Given the description of an element on the screen output the (x, y) to click on. 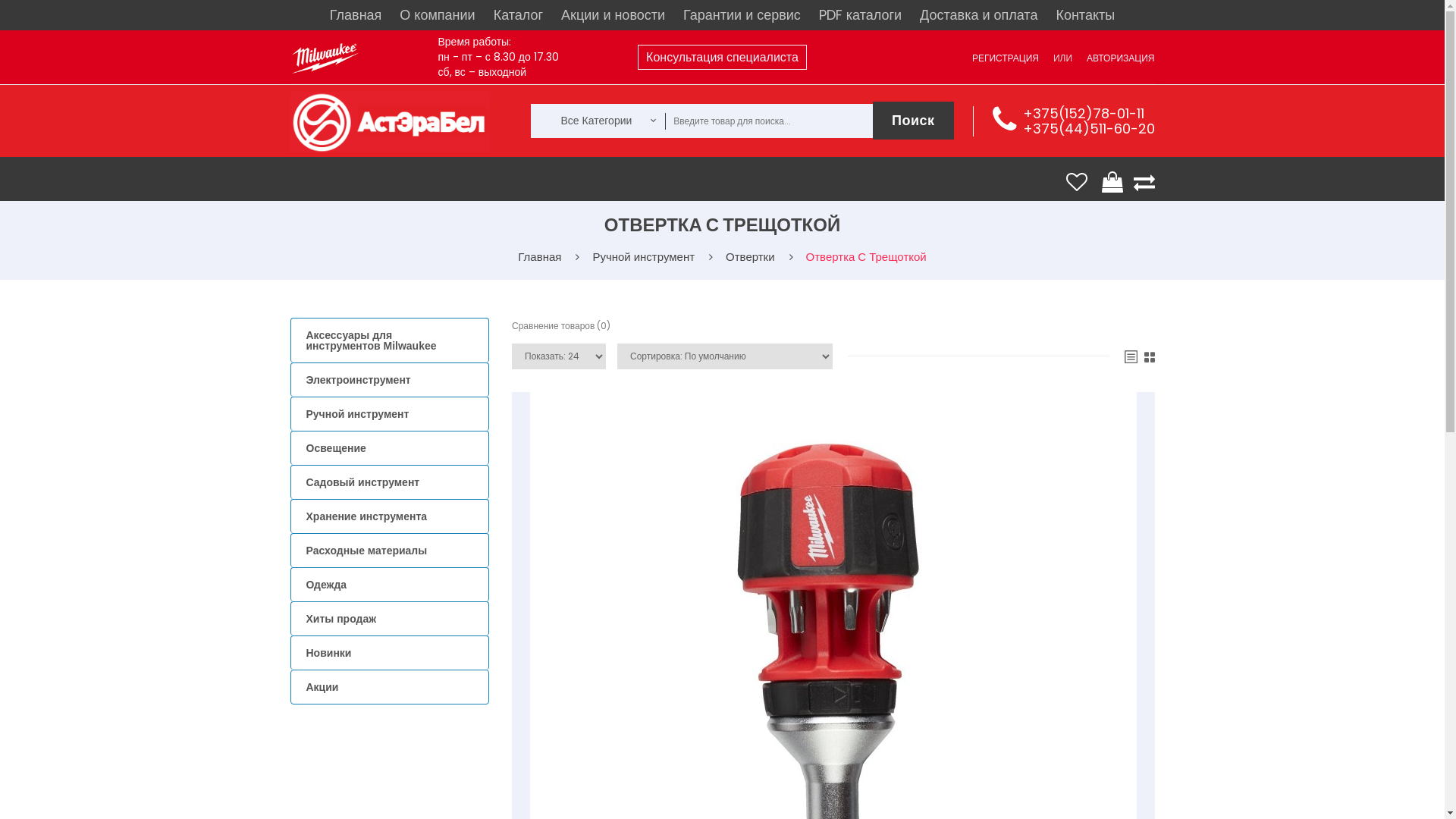
+375(152)78-01-11 Element type: text (1082, 112)
+375(44)511-60-20 Element type: text (1088, 128)
